Given the description of an element on the screen output the (x, y) to click on. 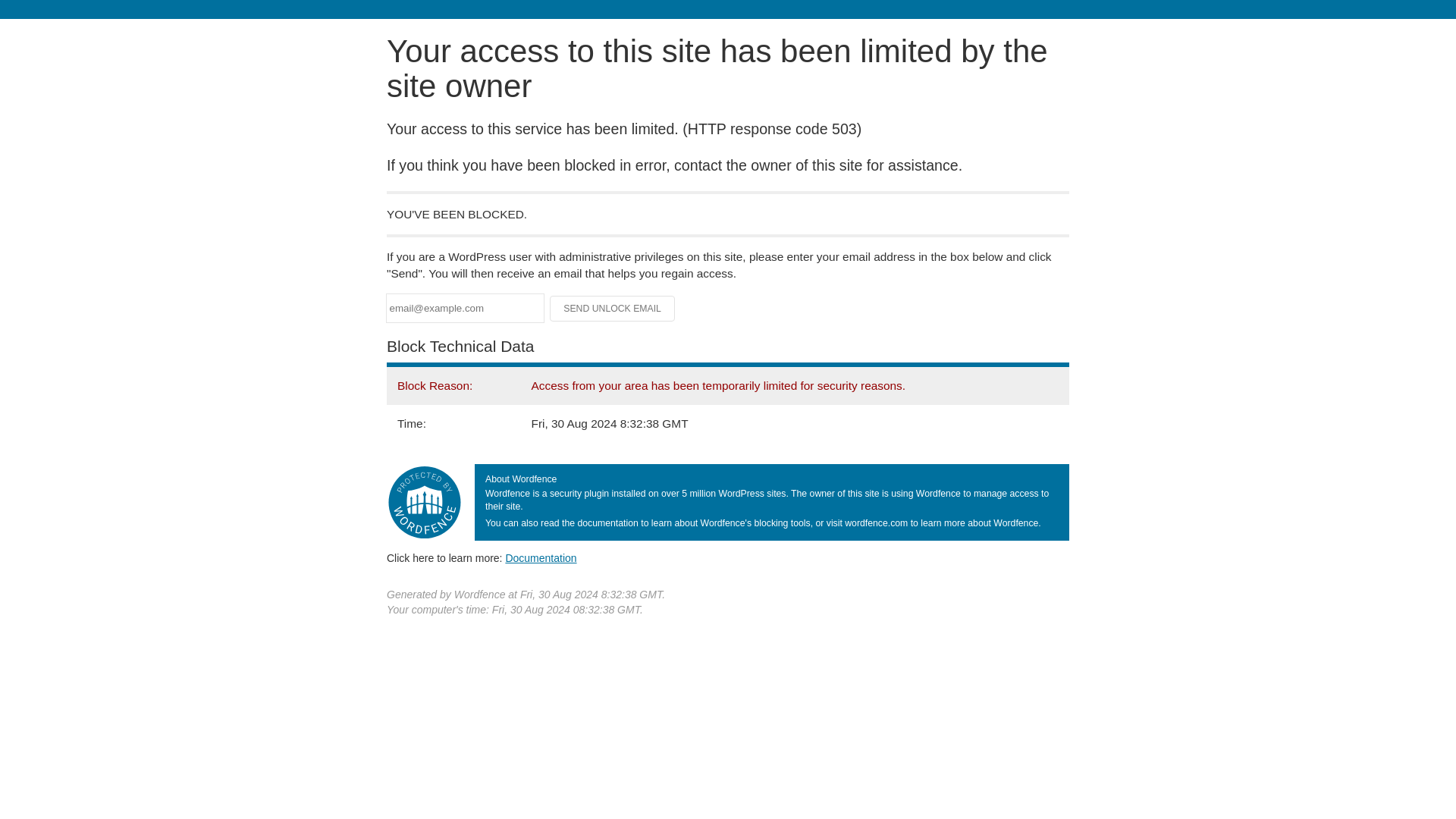
Send Unlock Email (612, 308)
Send Unlock Email (612, 308)
Documentation (540, 558)
